Given the description of an element on the screen output the (x, y) to click on. 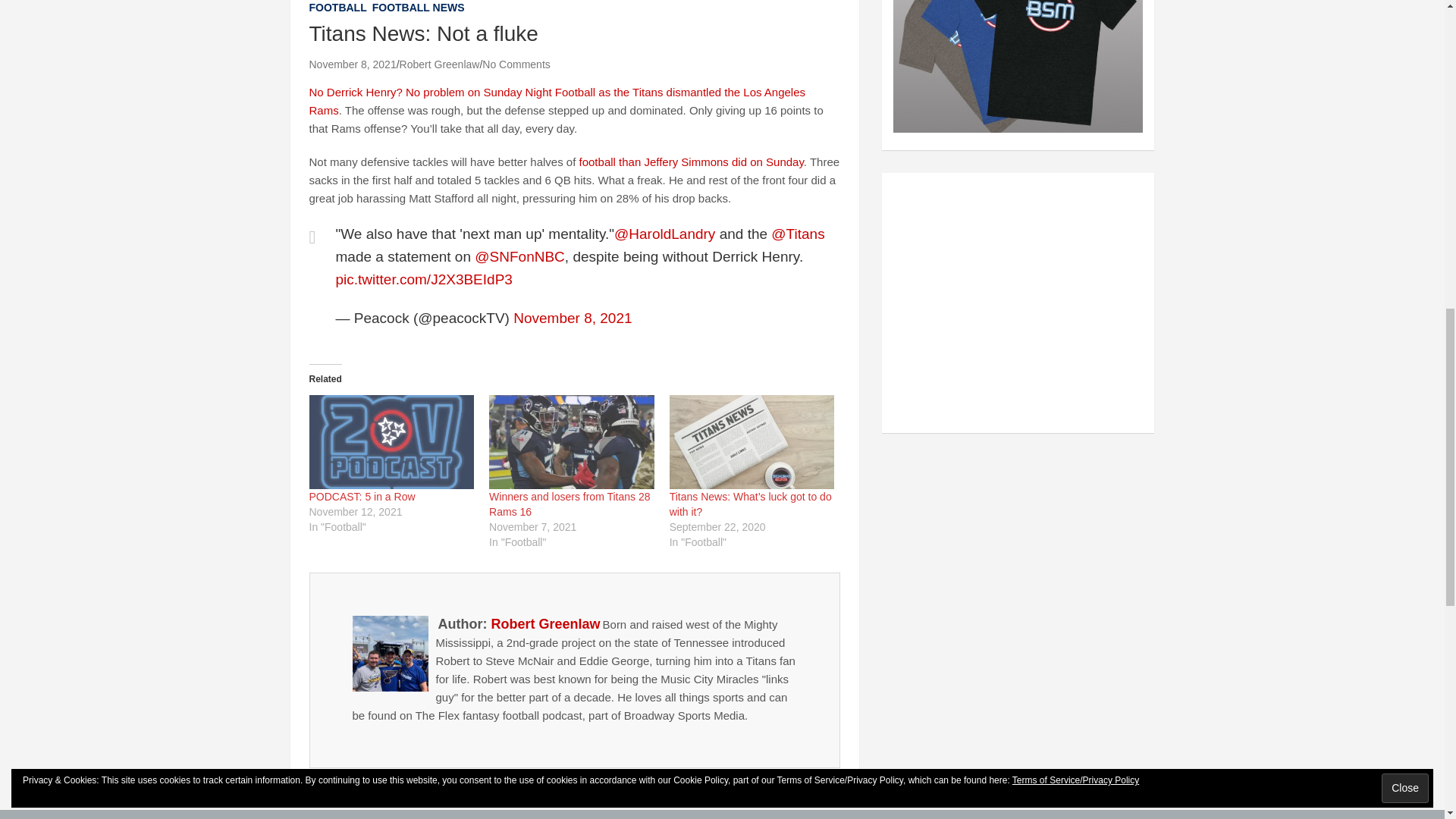
Titans News: Not a fluke (352, 64)
PODCAST: 5 in a Row (361, 496)
Winners and losers from Titans 28 Rams 16 (571, 441)
PODCAST: 5 in a Row (391, 441)
Winners and losers from Titans 28 Rams 16 (569, 503)
